Given the description of an element on the screen output the (x, y) to click on. 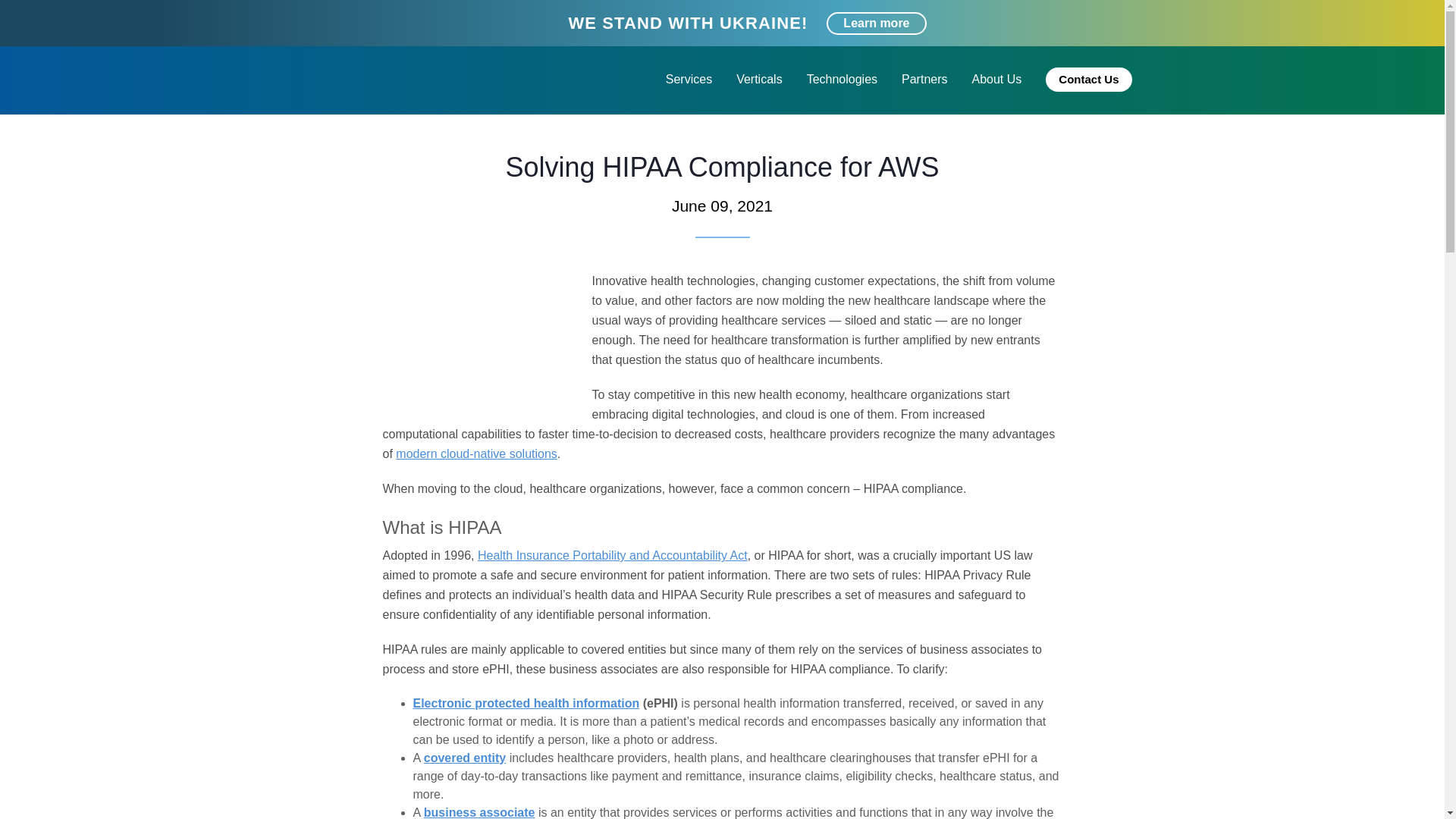
AWS (369, 130)
Verticals (758, 79)
Learn more (876, 23)
Home (326, 130)
Services (688, 79)
Technologies (841, 79)
Learn more (876, 23)
